Given the description of an element on the screen output the (x, y) to click on. 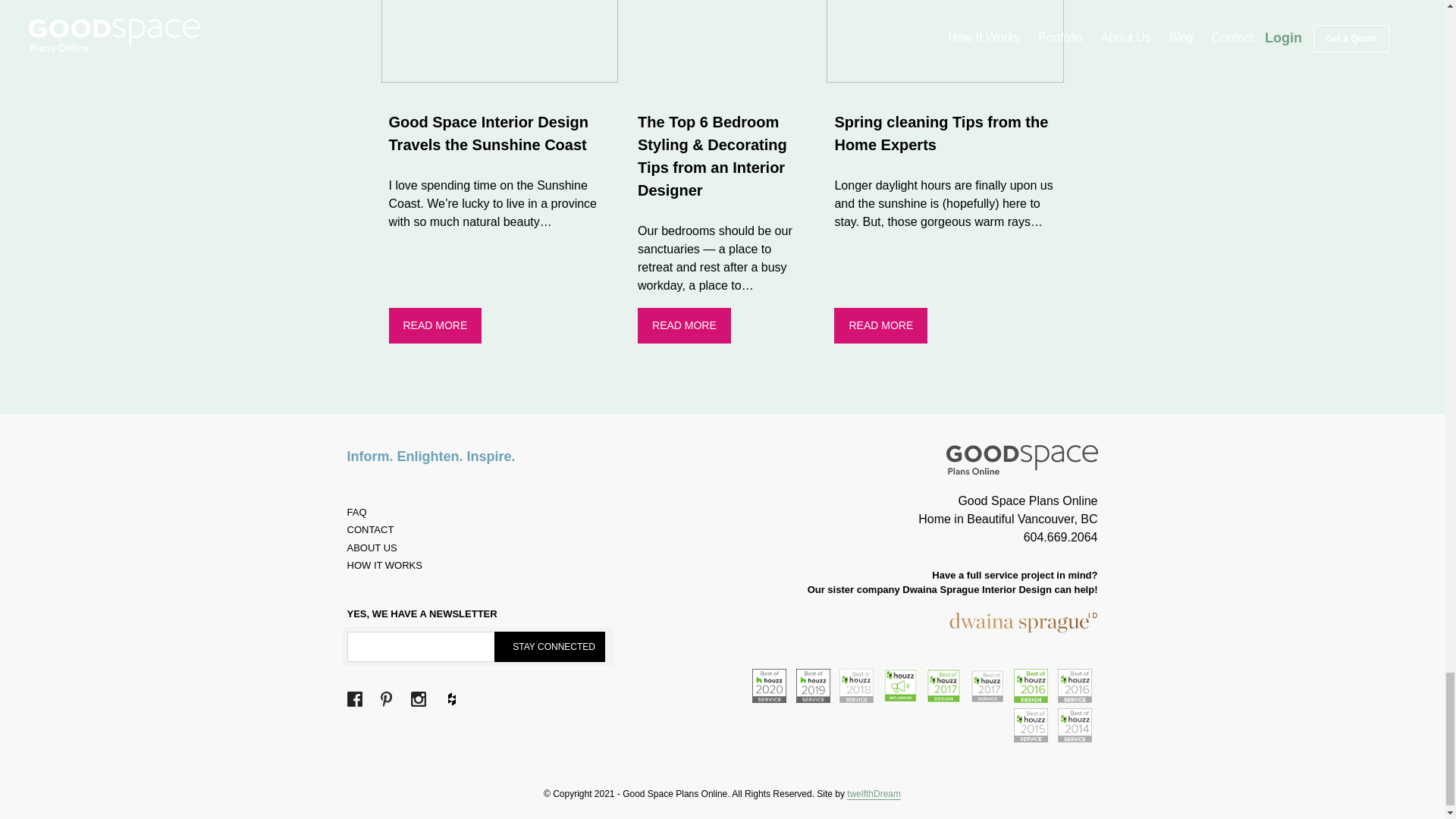
FAQ (356, 511)
READ MORE (880, 325)
STAY CONNECTED (550, 646)
READ MORE (683, 325)
READ MORE (434, 325)
